Given the description of an element on the screen output the (x, y) to click on. 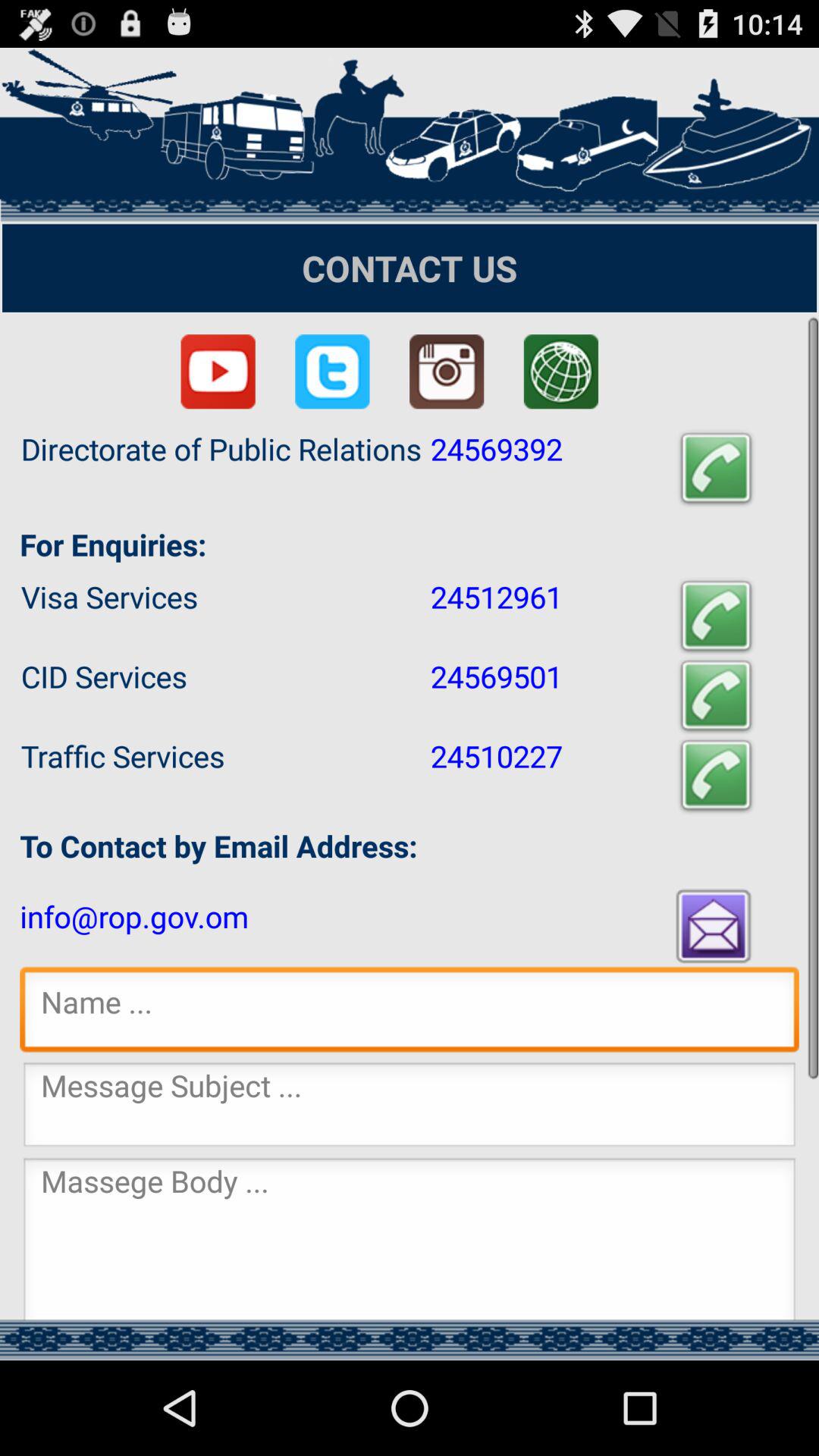
link to instagram (446, 371)
